Given the description of an element on the screen output the (x, y) to click on. 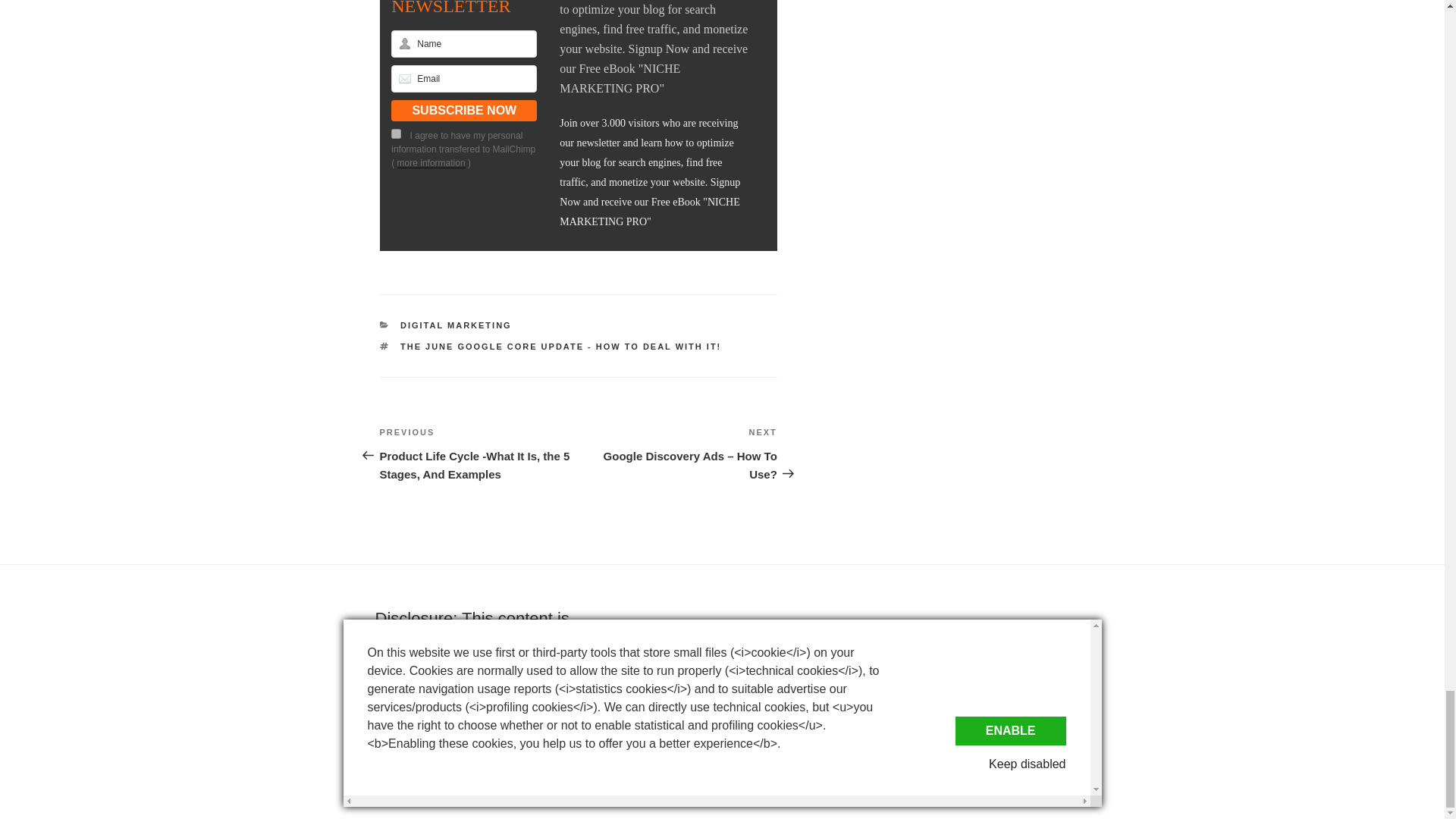
SUBSCRIBE NOW (464, 110)
on (396, 133)
